Given the description of an element on the screen output the (x, y) to click on. 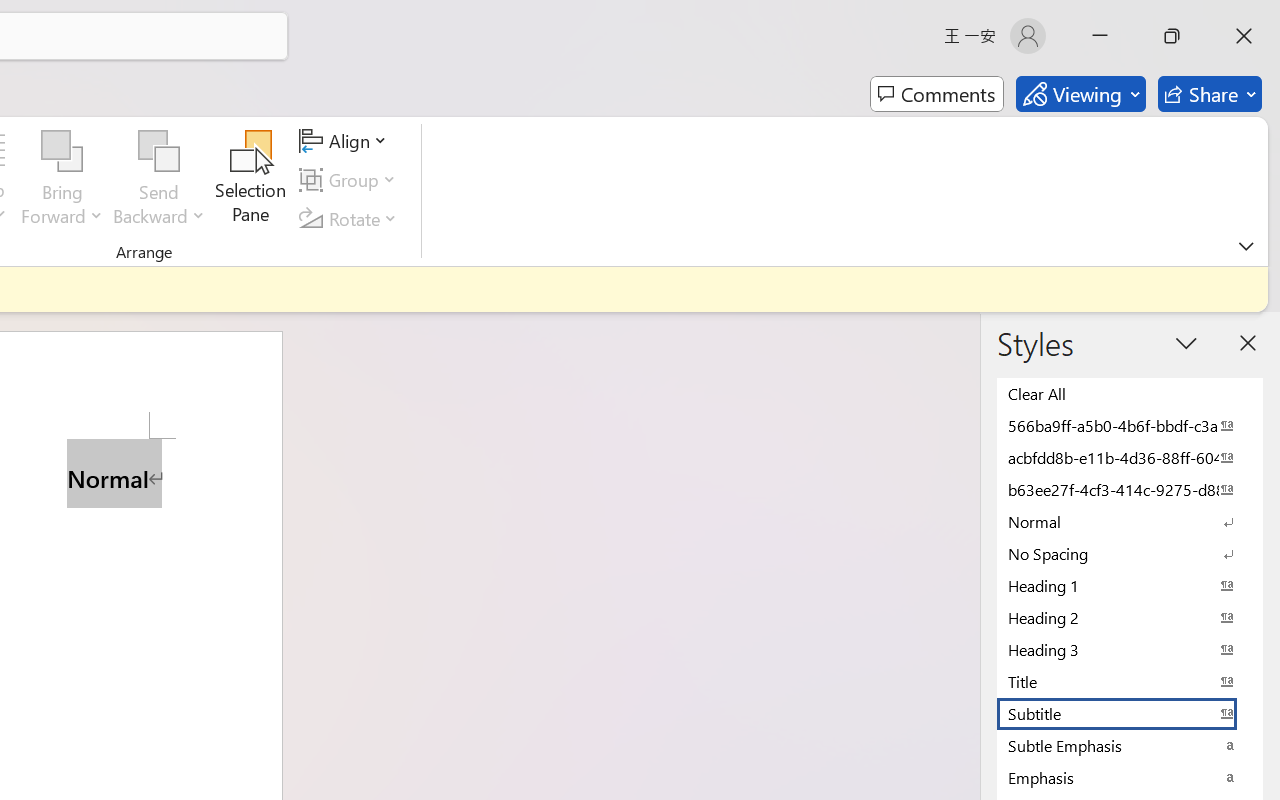
566ba9ff-a5b0-4b6f-bbdf-c3ab41993fc2 (1130, 425)
Bring Forward (62, 151)
